Given the description of an element on the screen output the (x, y) to click on. 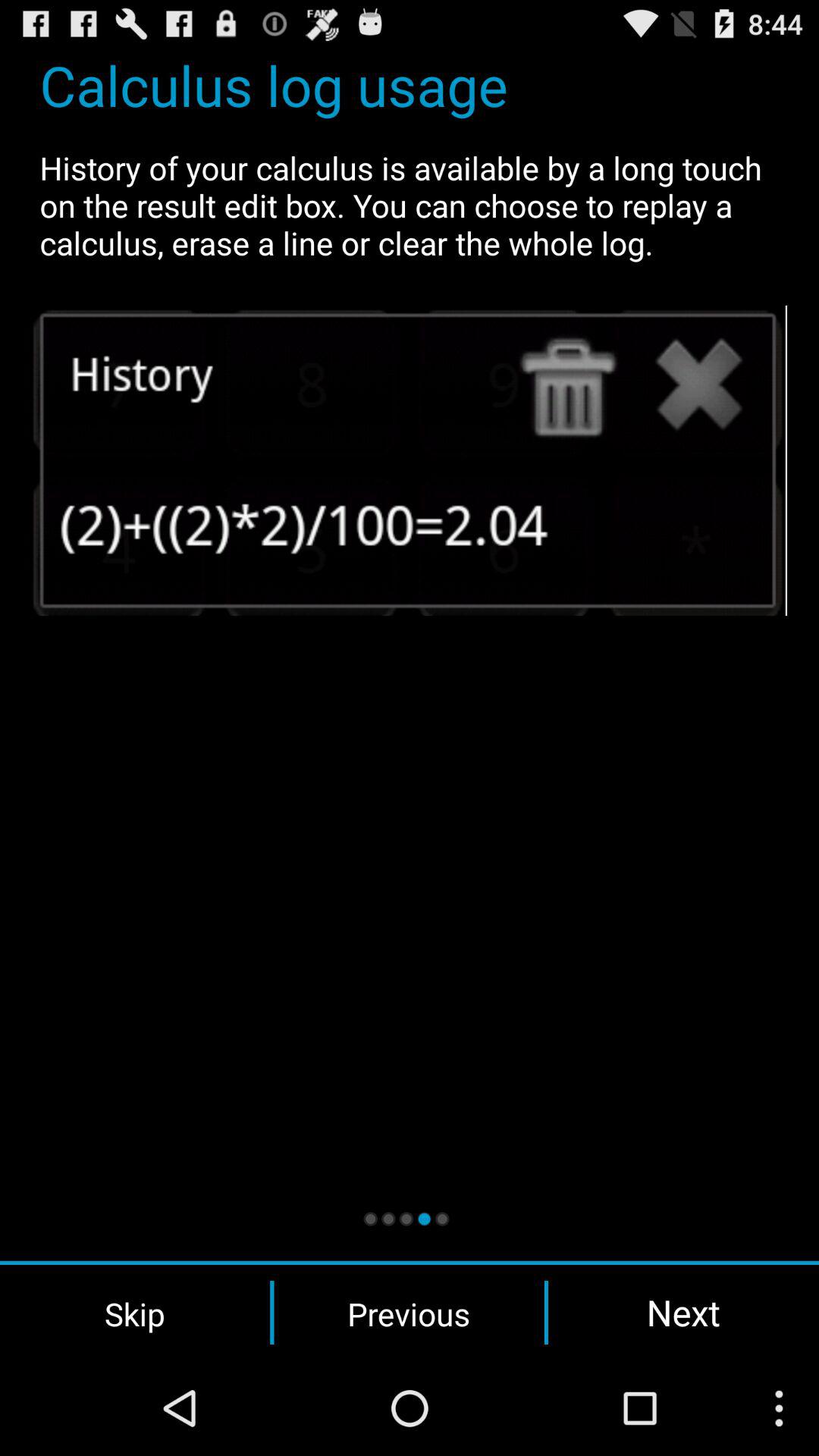
click the next button (683, 1312)
